Given the description of an element on the screen output the (x, y) to click on. 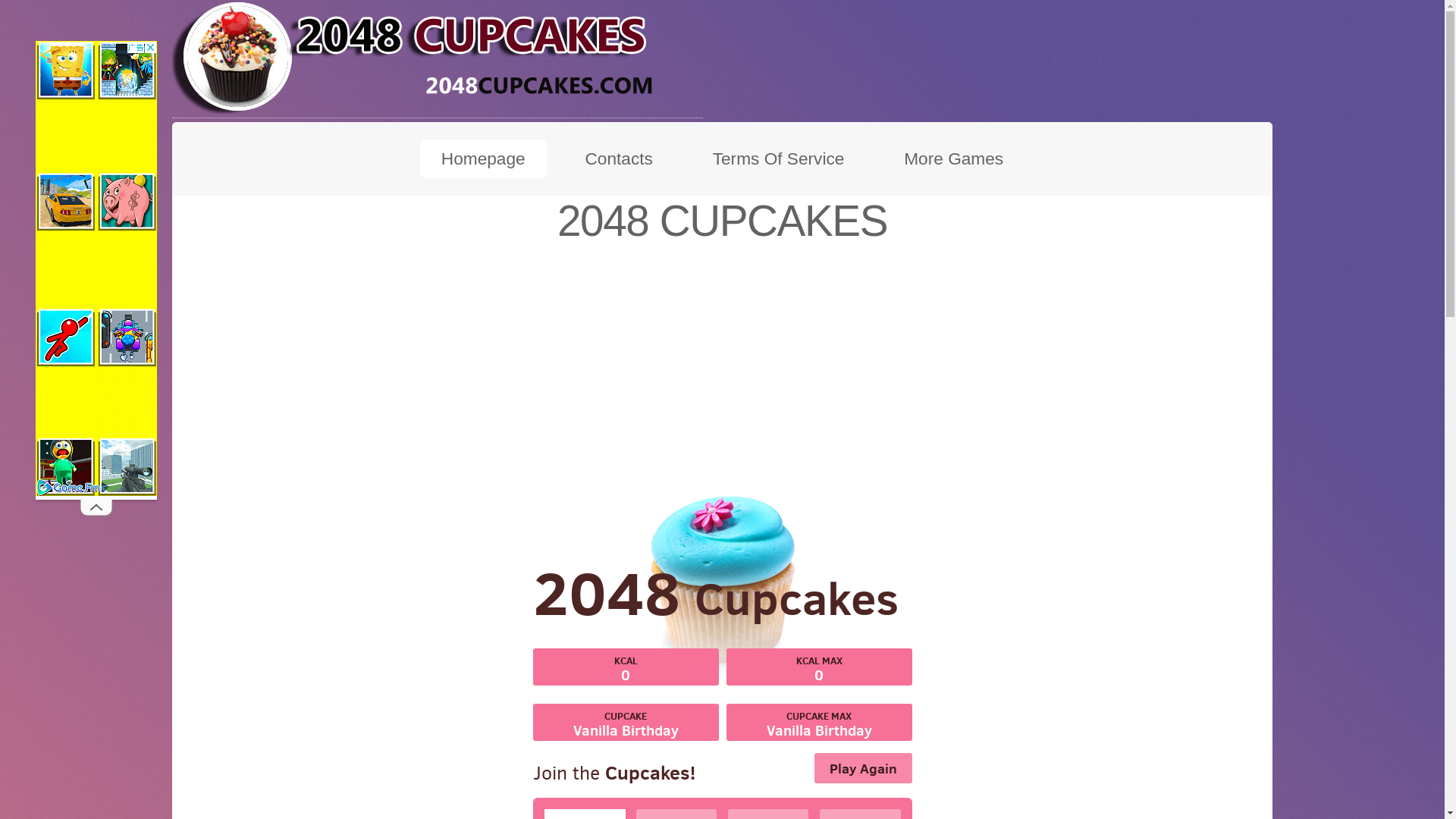
More Games Element type: text (953, 158)
2048 CUPCAKES Element type: hover (437, 56)
Terms Of Service Element type: text (777, 158)
Advertisement Element type: hover (95, 267)
Advertisement Element type: hover (721, 382)
Homepage Element type: text (483, 158)
Contacts Element type: text (618, 158)
